Given the description of an element on the screen output the (x, y) to click on. 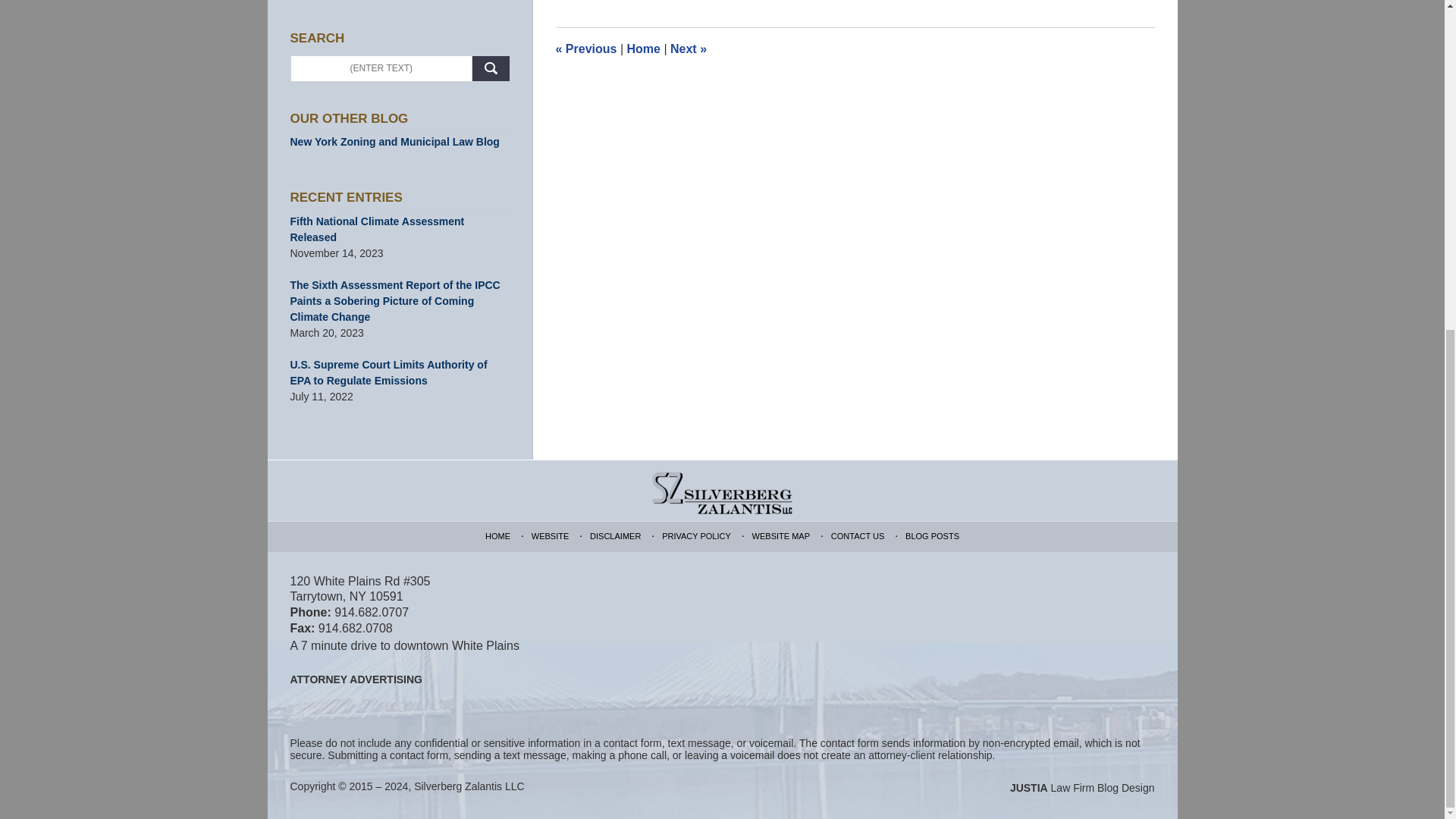
Home (642, 48)
Two Recent Studies of Economic Impacts of Climate Change (687, 48)
New York DEC Prepares to Address Sea Level Rise (584, 48)
